Given the description of an element on the screen output the (x, y) to click on. 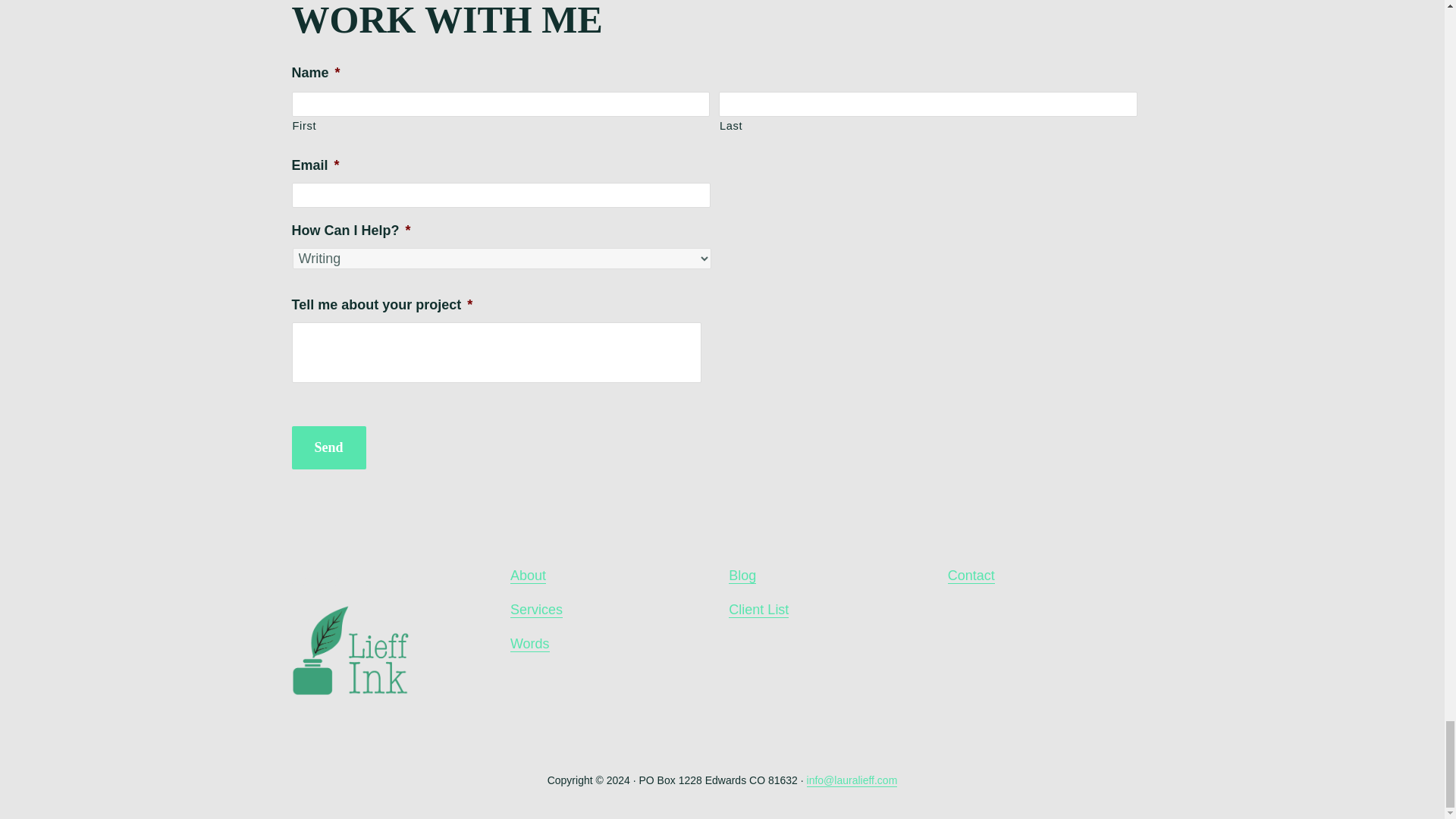
Send (328, 447)
